Given the description of an element on the screen output the (x, y) to click on. 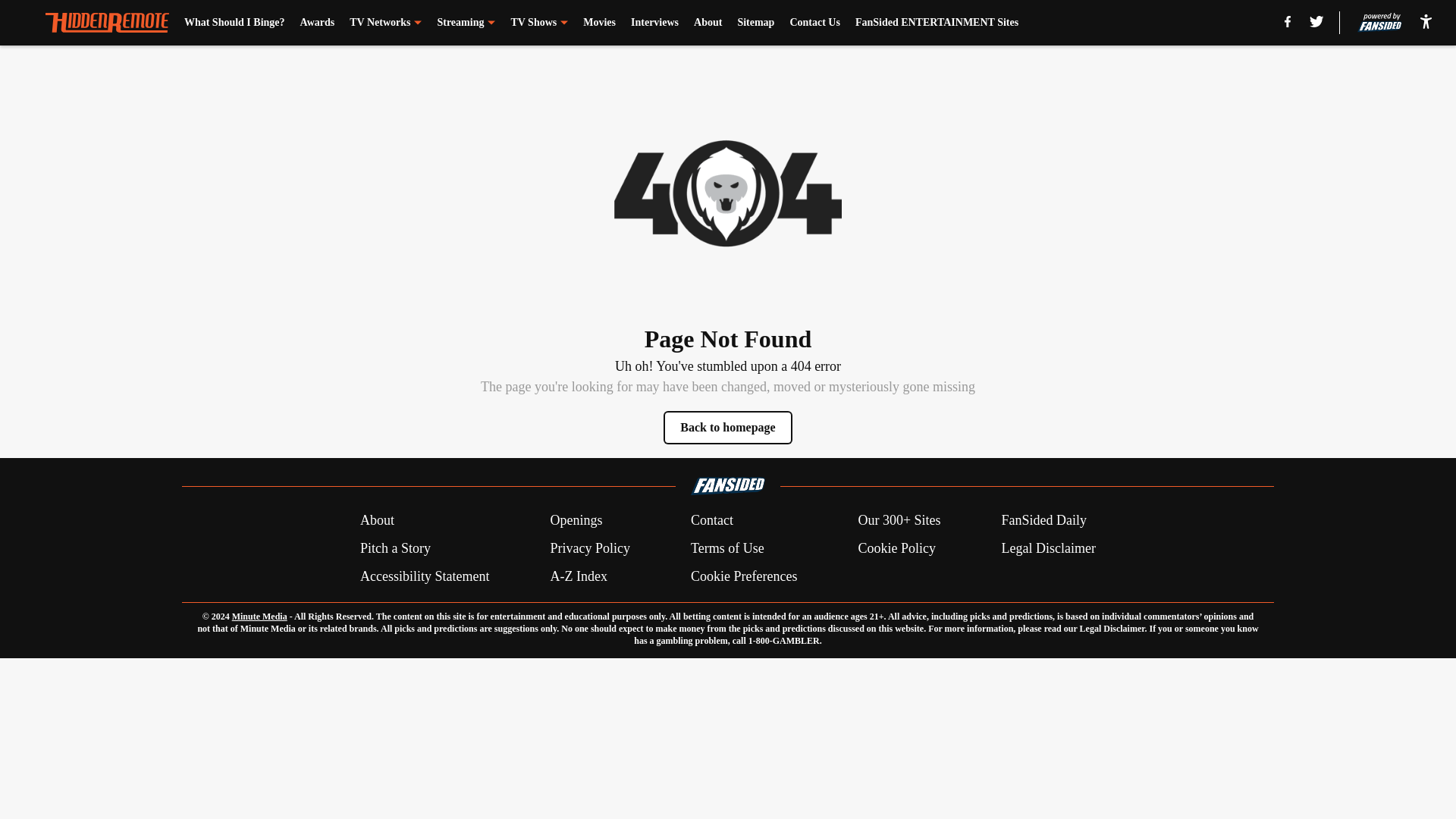
Openings (576, 520)
Interviews (654, 22)
FanSided ENTERTAINMENT Sites (936, 22)
Awards (316, 22)
Back to homepage (727, 427)
About (376, 520)
About (708, 22)
Sitemap (755, 22)
What Should I Binge? (234, 22)
Error image (727, 193)
